Given the description of an element on the screen output the (x, y) to click on. 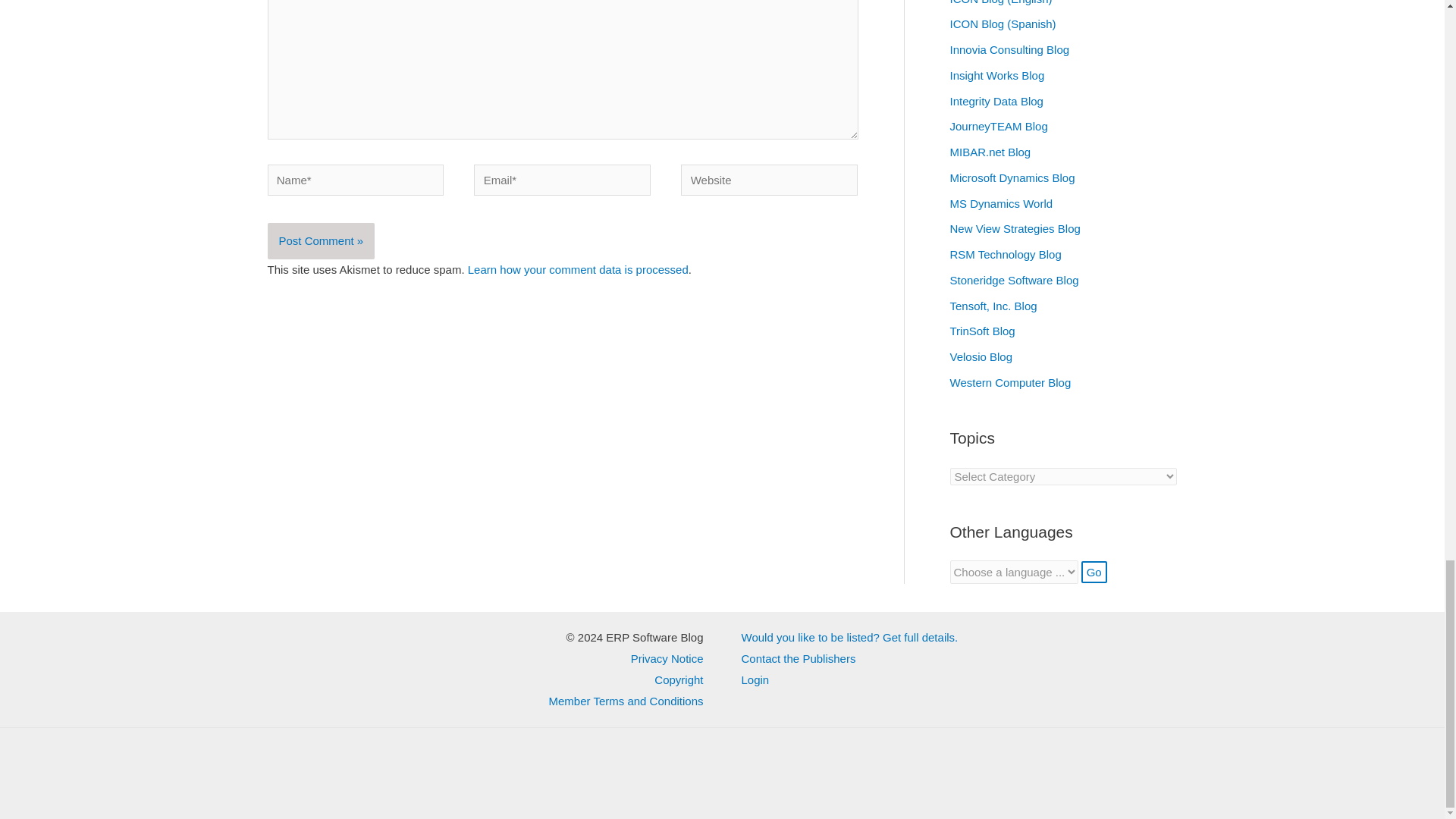
Go (1093, 572)
